Given the description of an element on the screen output the (x, y) to click on. 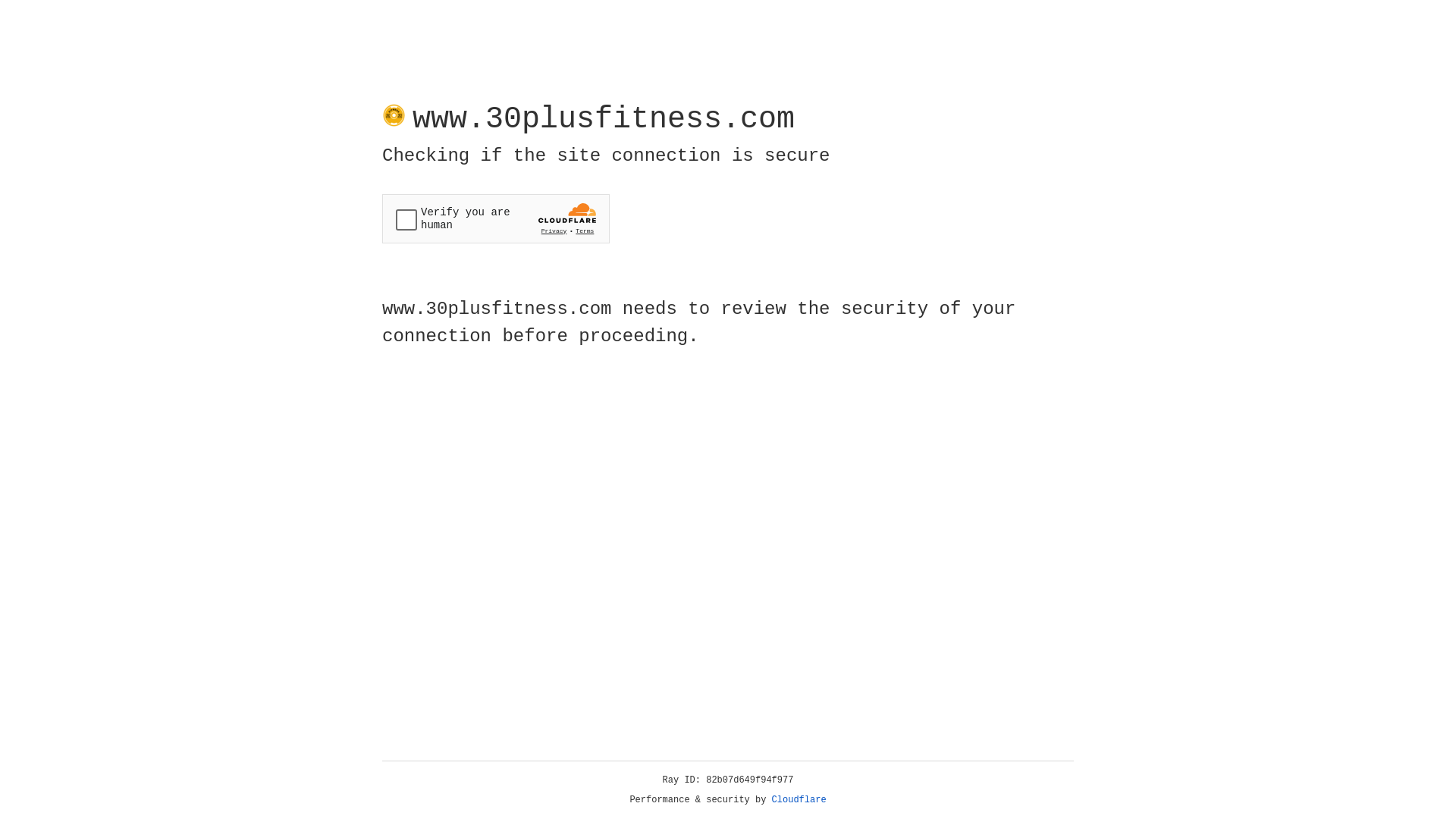
Cloudflare Element type: text (798, 799)
Widget containing a Cloudflare security challenge Element type: hover (495, 218)
